Given the description of an element on the screen output the (x, y) to click on. 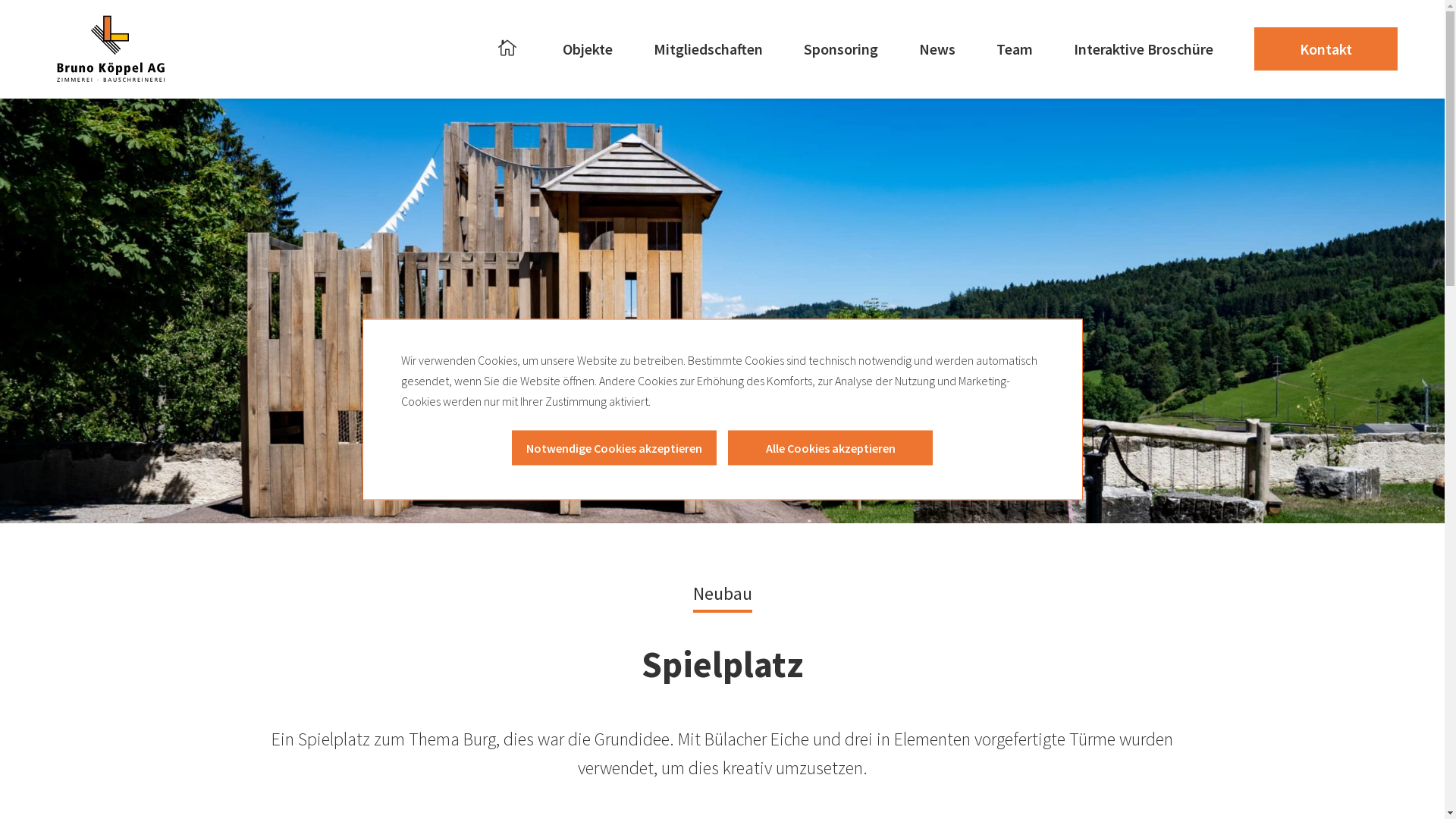
Objekte Element type: text (587, 49)
Team Element type: text (1014, 49)
Alle Cookies akzeptieren Element type: text (830, 447)
Notwendige Cookies akzeptieren Element type: text (613, 447)
Created with Snap Element type: text (112, 56)
Mitgliedschaften Element type: text (707, 49)
Sponsoring Element type: text (840, 49)
Home Element type: hover (509, 49)
Kontakt Element type: text (1325, 49)
Neubau Element type: text (722, 591)
News Element type: text (937, 49)
